Given the description of an element on the screen output the (x, y) to click on. 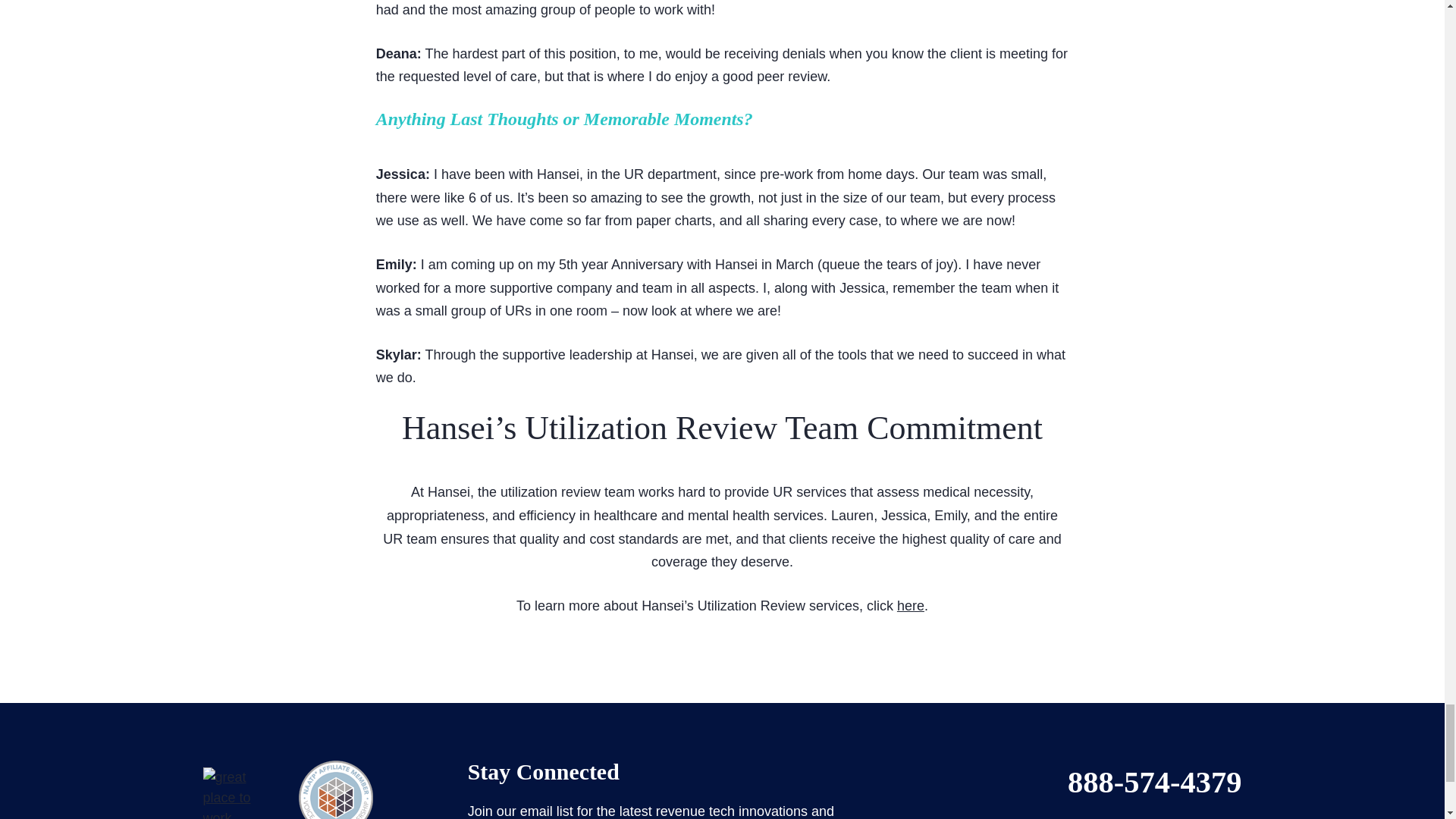
here (910, 605)
